Given the description of an element on the screen output the (x, y) to click on. 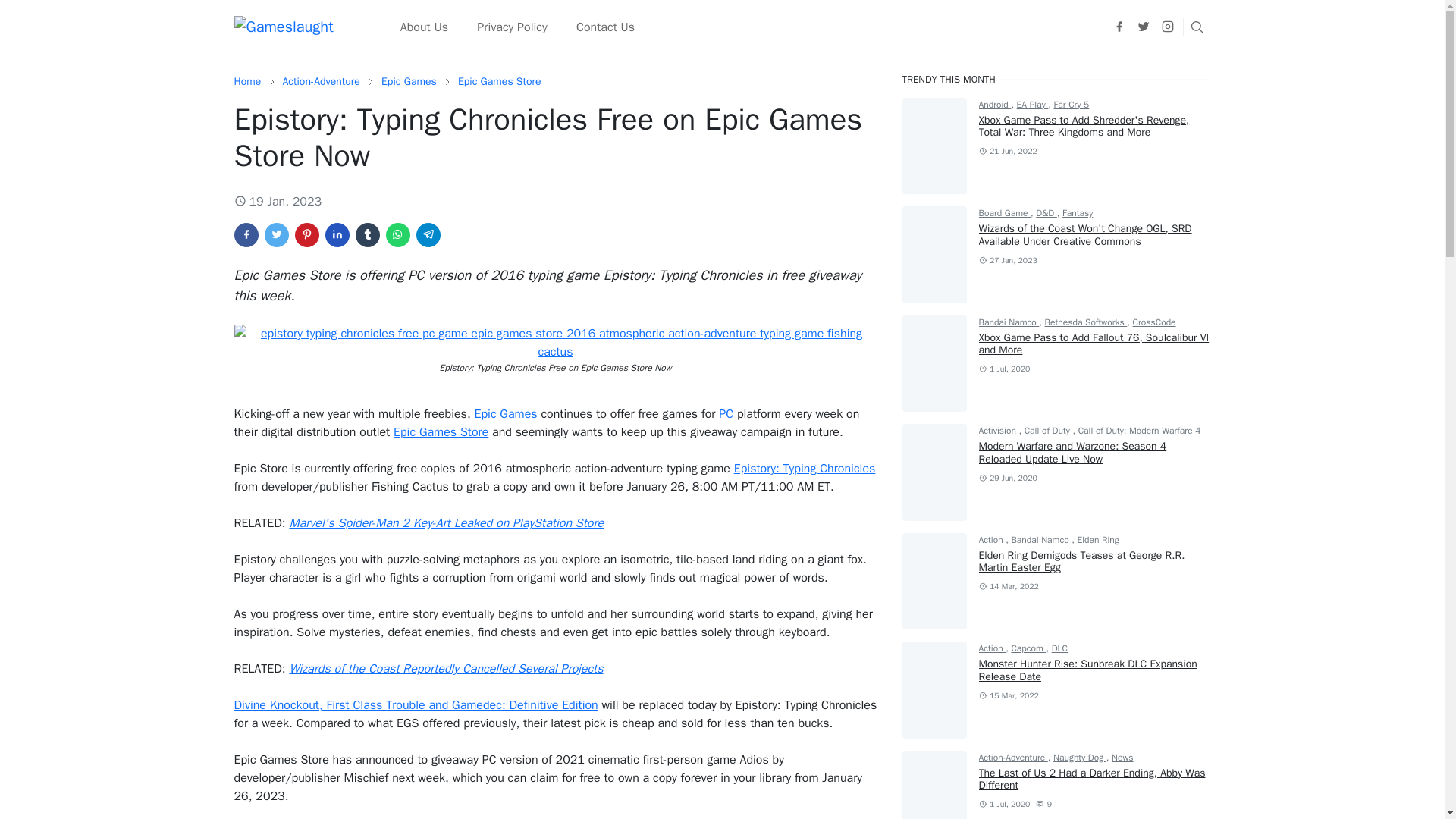
Epic Games Store (440, 432)
Facebook Share (244, 234)
Epic Games (505, 413)
Epistory: Typing Chronicles Free on Epic Games Store Now (554, 342)
Contact Us (605, 27)
Action-Adventure (320, 81)
Linkedin Share (336, 234)
Share to whatsapp (397, 234)
Marvel's Spider-Man 2 Key-Art Leaked on PlayStation Store (446, 522)
Epic Games Store (499, 81)
Epistory: Typing Chronicles (804, 468)
PC (726, 413)
Home (246, 81)
Tweet This (275, 234)
Epic Games Store (499, 81)
